Given the description of an element on the screen output the (x, y) to click on. 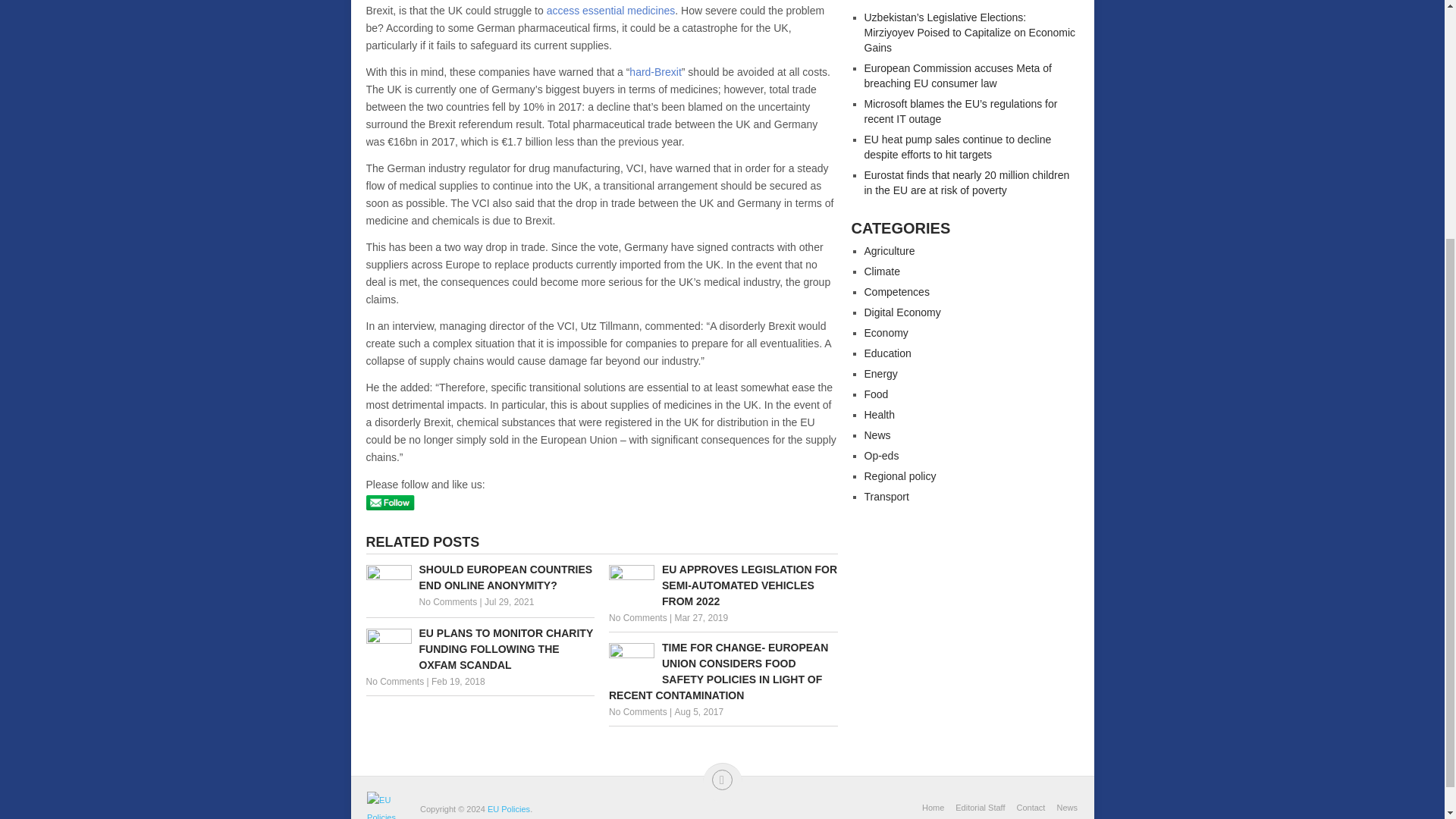
Op-eds (881, 455)
Regional policy (900, 476)
News (877, 435)
EU Policies (508, 809)
Contact (1025, 807)
Economy (886, 332)
hard-Brexit (654, 71)
News (1061, 807)
Competences (897, 291)
access essential medicines (611, 10)
Home (932, 807)
